Given the description of an element on the screen output the (x, y) to click on. 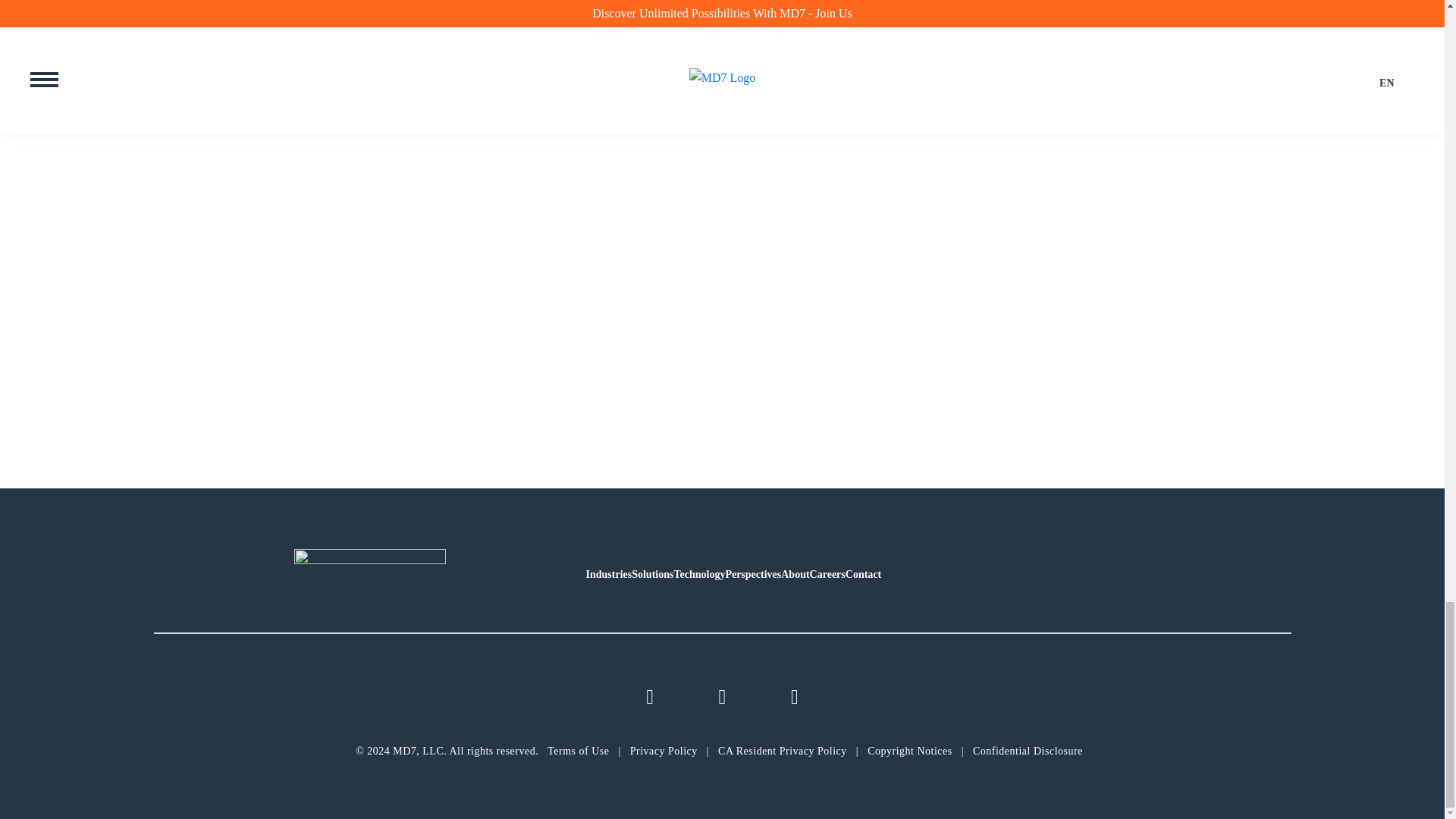
Industries (608, 573)
Terms of Use (577, 750)
Technology (698, 573)
About (794, 573)
Contact (862, 573)
Solutions (651, 573)
Careers (827, 573)
Perspectives (752, 573)
